Given the description of an element on the screen output the (x, y) to click on. 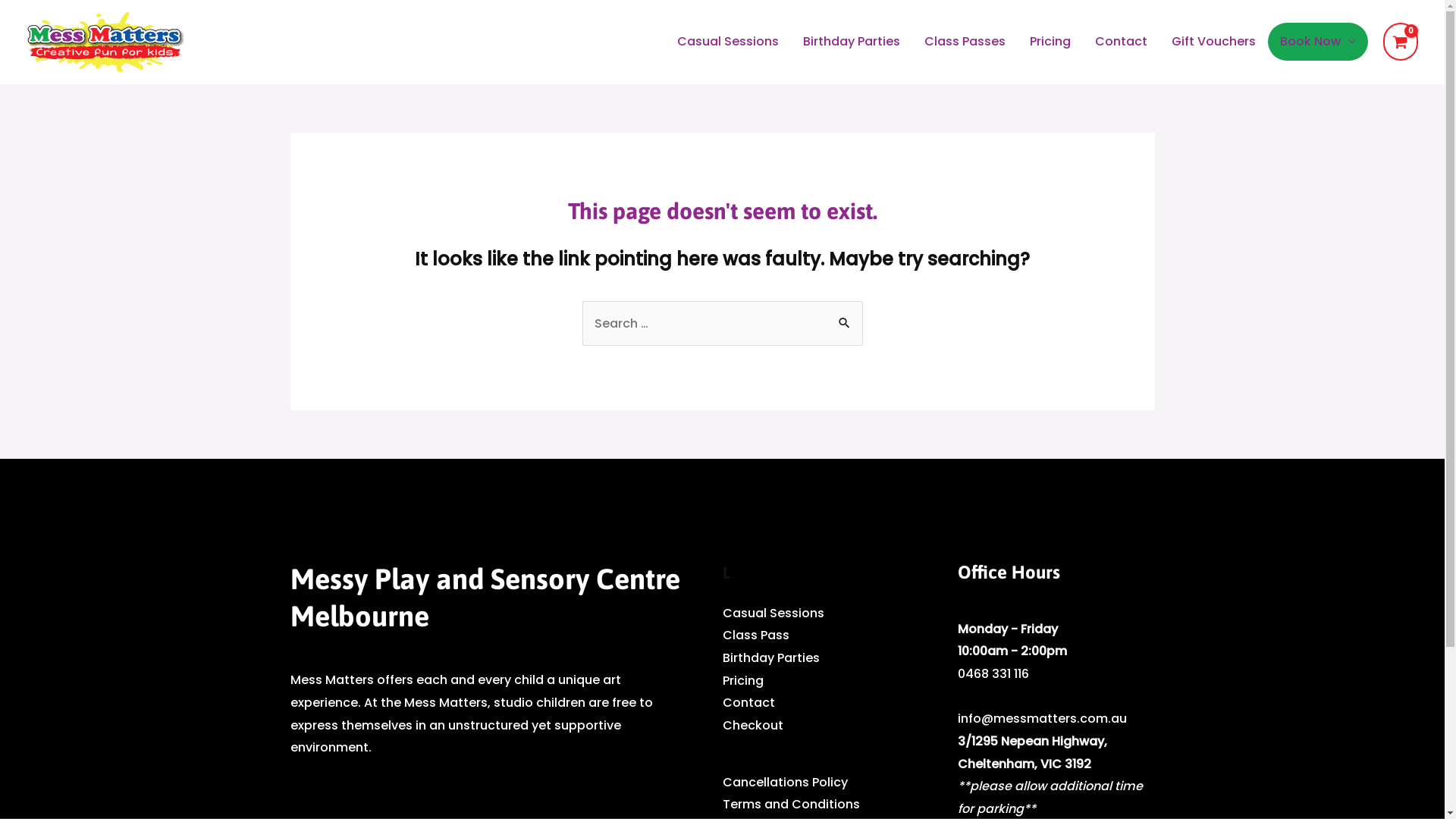
Checkout Element type: text (751, 725)
0468 331 116 Element type: text (992, 673)
Cancellations Policy Element type: text (784, 781)
Gift Vouchers Element type: text (1213, 41)
Class Passes Element type: text (964, 41)
Birthday Parties Element type: text (770, 657)
Pricing Element type: text (741, 680)
Terms and Conditions Element type: text (790, 803)
Pricing Element type: text (1049, 41)
Contact Element type: text (1120, 41)
Birthday Parties Element type: text (851, 41)
Search Element type: text (845, 317)
Contact Element type: text (747, 702)
Book Now Element type: text (1317, 41)
Casual Sessions Element type: text (727, 41)
Casual Sessions Element type: text (772, 612)
Class Pass Element type: text (754, 634)
